Given the description of an element on the screen output the (x, y) to click on. 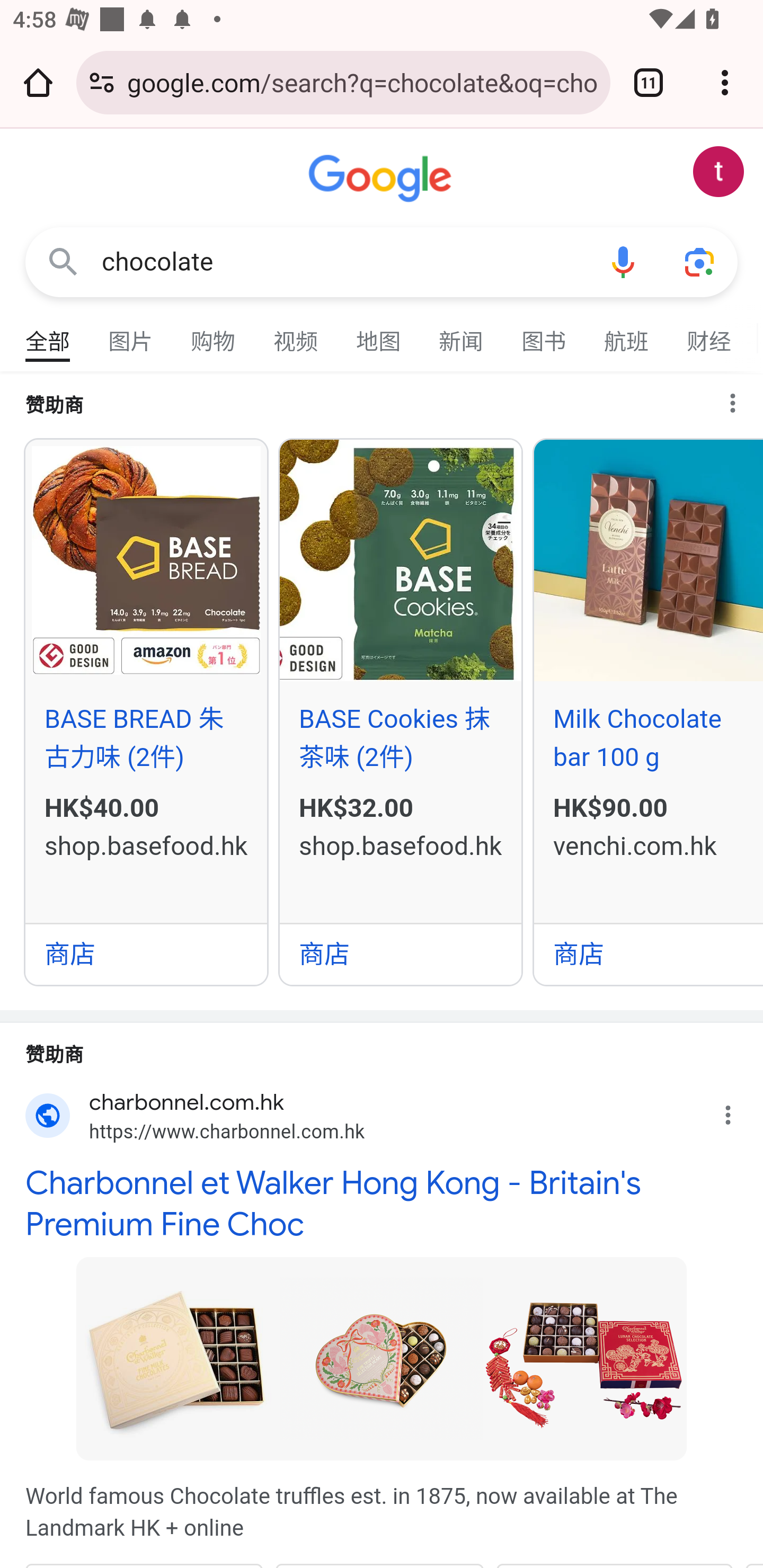
Open the home page (38, 82)
Connection is secure (101, 82)
Switch or close tabs (648, 82)
Customize and control Google Chrome (724, 82)
Google (381, 179)
Google 账号： test appium (testappium002@gmail.com) (718, 171)
Google 搜索 (63, 262)
使用拍照功能或照片进行搜索 (699, 262)
chocolate (343, 261)
图片 (131, 333)
购物 (213, 333)
视频 (296, 333)
地图 (379, 333)
新闻 (461, 333)
图书 (544, 333)
航班 (627, 333)
财经 (709, 333)
为什么会显示该广告？ (740, 398)
商店 商店 商店 (146, 952)
商店 商店 商店 (400, 952)
商店 商店 商店 (648, 952)
为什么会显示该广告？ (738, 1110)
图片来自 charbonnel.com.hk (178, 1357)
图片来自 charbonnel.com.hk (381, 1357)
图片来自 charbonnel.com.hk (584, 1357)
